Given the description of an element on the screen output the (x, y) to click on. 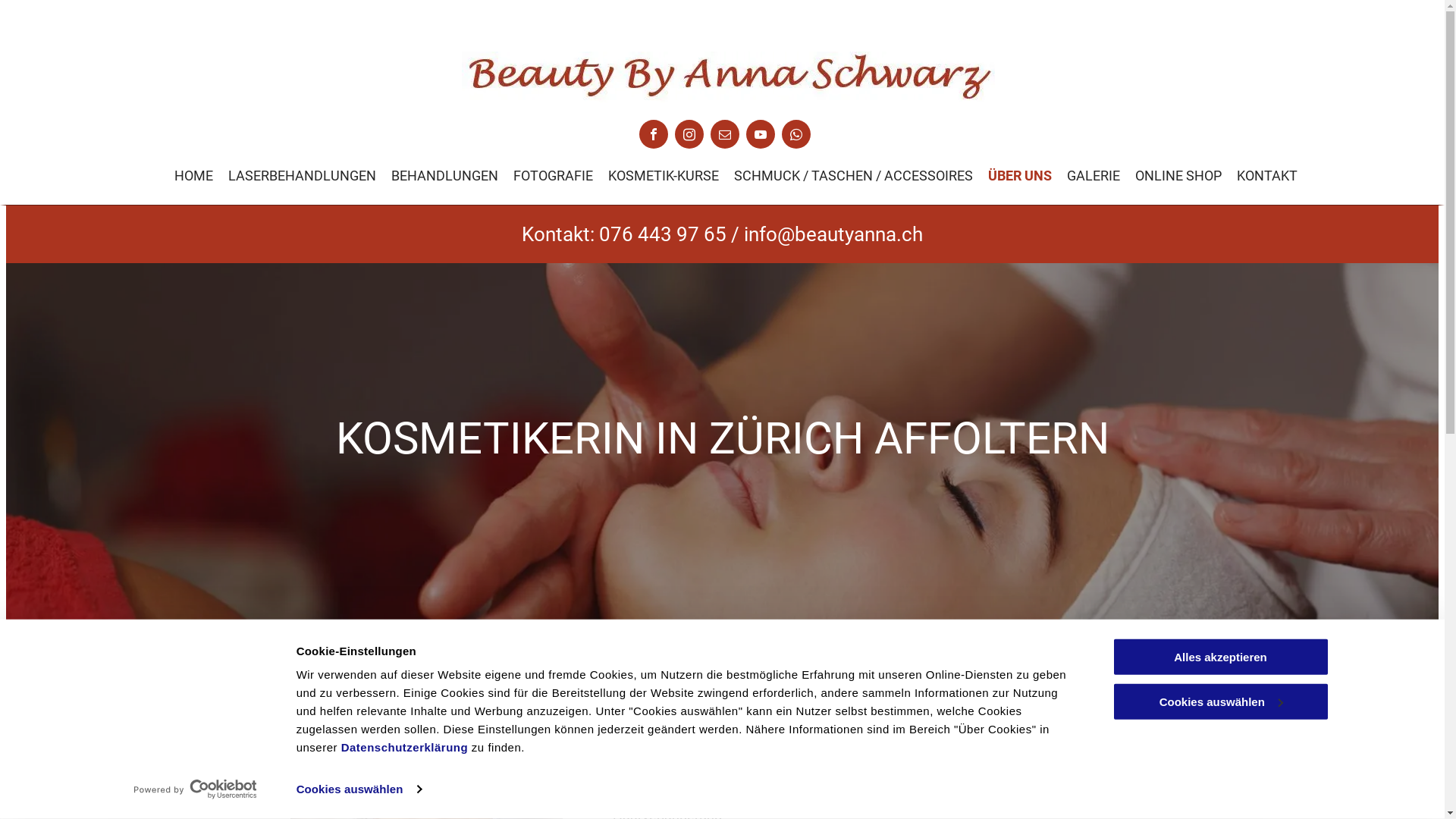
ONLINE SHOP Element type: text (1177, 175)
HOME Element type: text (193, 175)
KOSMETIK-KURSE Element type: text (663, 175)
FOTOGRAFIE Element type: text (552, 175)
GALERIE Element type: text (1092, 175)
LASERBEHANDLUNGEN Element type: text (301, 175)
BEHANDLUNGEN Element type: text (444, 175)
Alles akzeptieren Element type: text (1219, 656)
SCHMUCK / TASCHEN / ACCESSOIRES Element type: text (853, 175)
KONTAKT Element type: text (1266, 175)
